Given the description of an element on the screen output the (x, y) to click on. 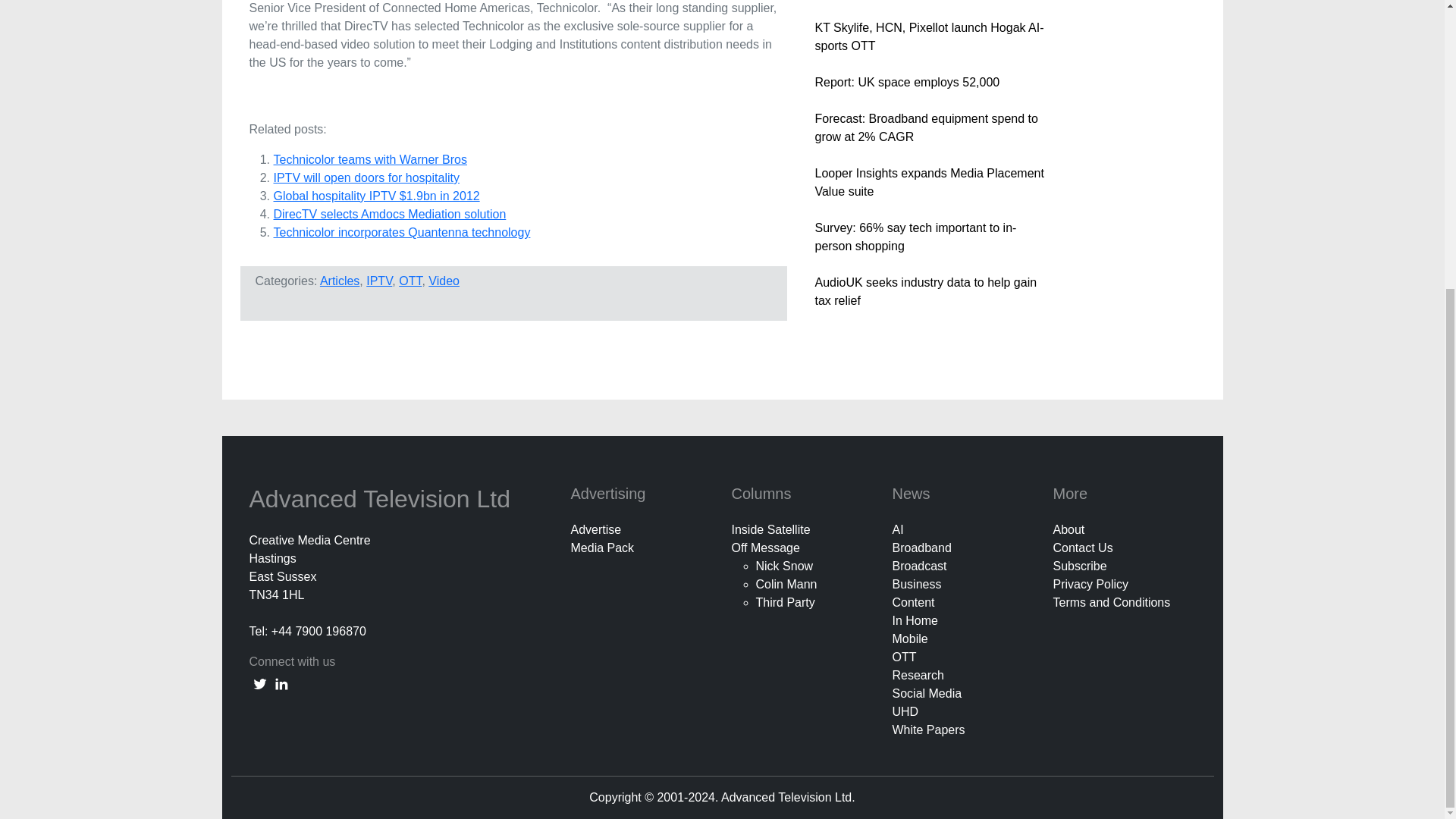
IPTV (378, 280)
Technicolor teams with Warner Bros (370, 159)
Technicolor incorporates Quantenna technology (401, 232)
Report: UK space employs 52,000 (905, 82)
Technicolor incorporates Quantenna technology (401, 232)
OTT (410, 280)
DirecTV selects Amdocs Mediation solution (389, 214)
KT Skylife, HCN, Pixellot launch Hogak AI-sports OTT (928, 36)
Articles (339, 280)
IPTV will open doors for hospitality (365, 177)
Video (444, 280)
IPTV will open doors for hospitality (365, 177)
DirecTV selects Amdocs Mediation solution (389, 214)
AudioUK seeks industry data to help gain tax relief (924, 291)
Advanced Television Ltd  (382, 498)
